Given the description of an element on the screen output the (x, y) to click on. 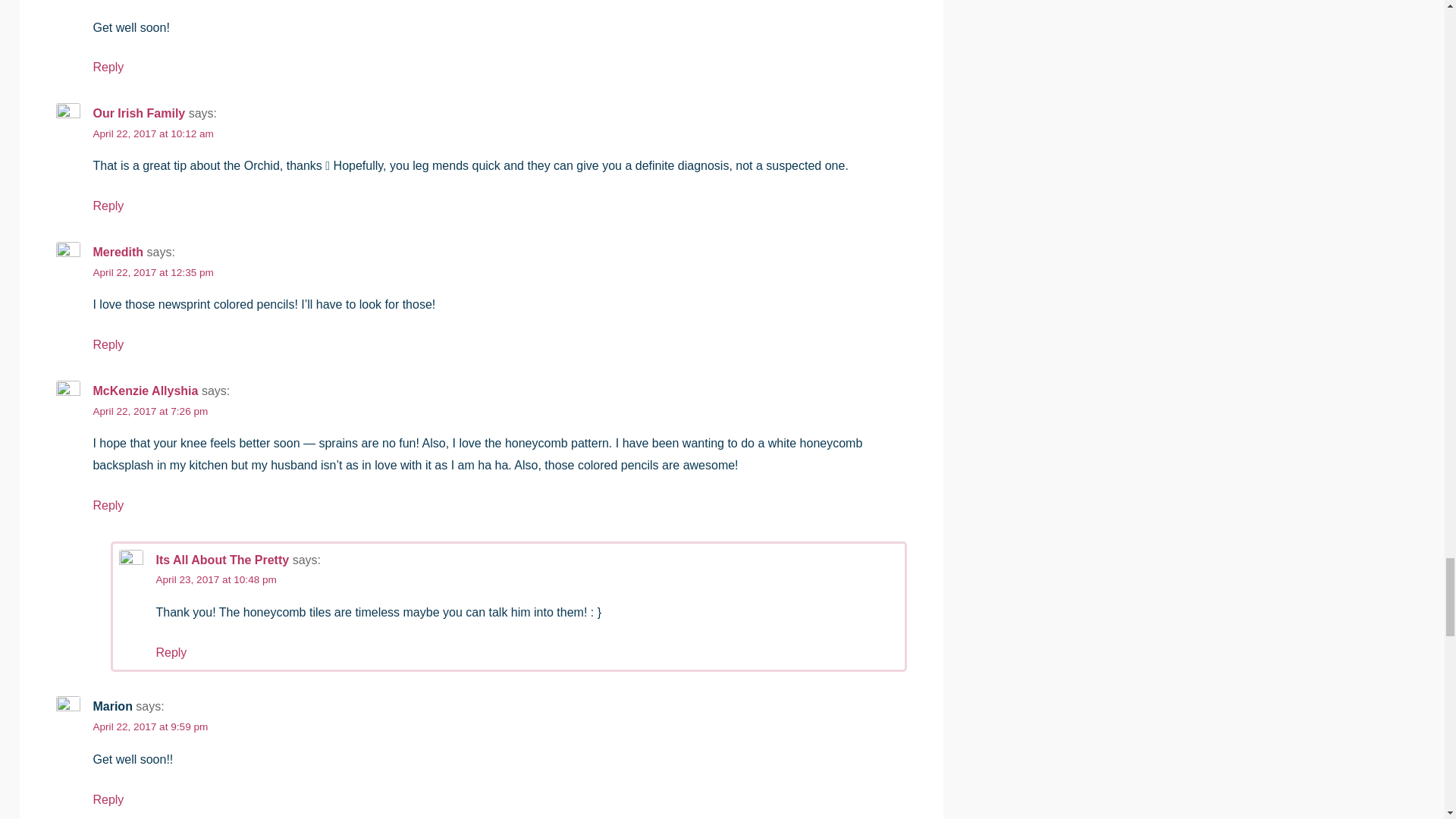
Reply (108, 66)
Reply (108, 205)
April 22, 2017 at 10:12 am (152, 133)
Our Irish Family (138, 113)
